Given the description of an element on the screen output the (x, y) to click on. 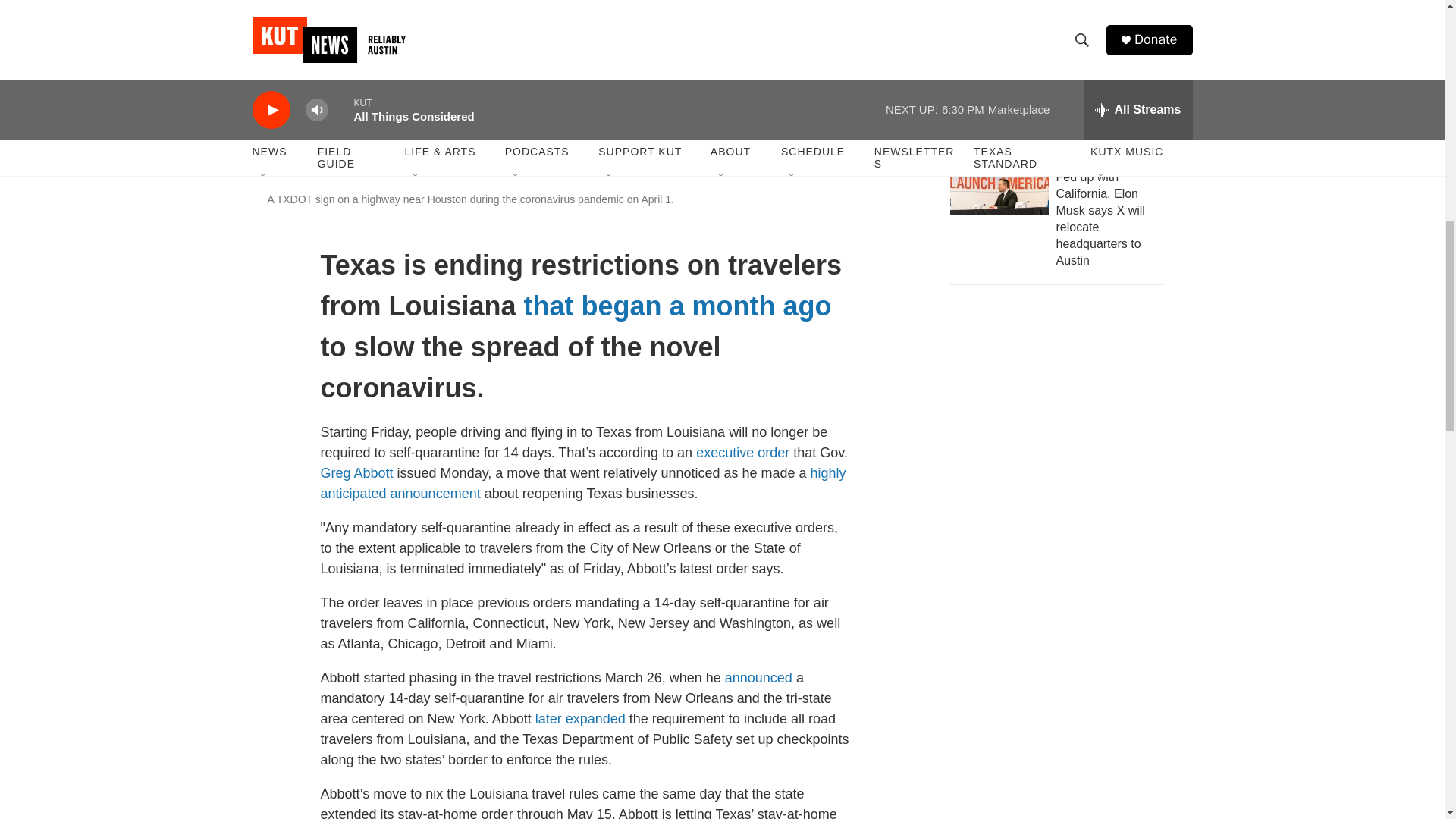
3rd party ad content (1062, 629)
3rd party ad content (1062, 410)
